Given the description of an element on the screen output the (x, y) to click on. 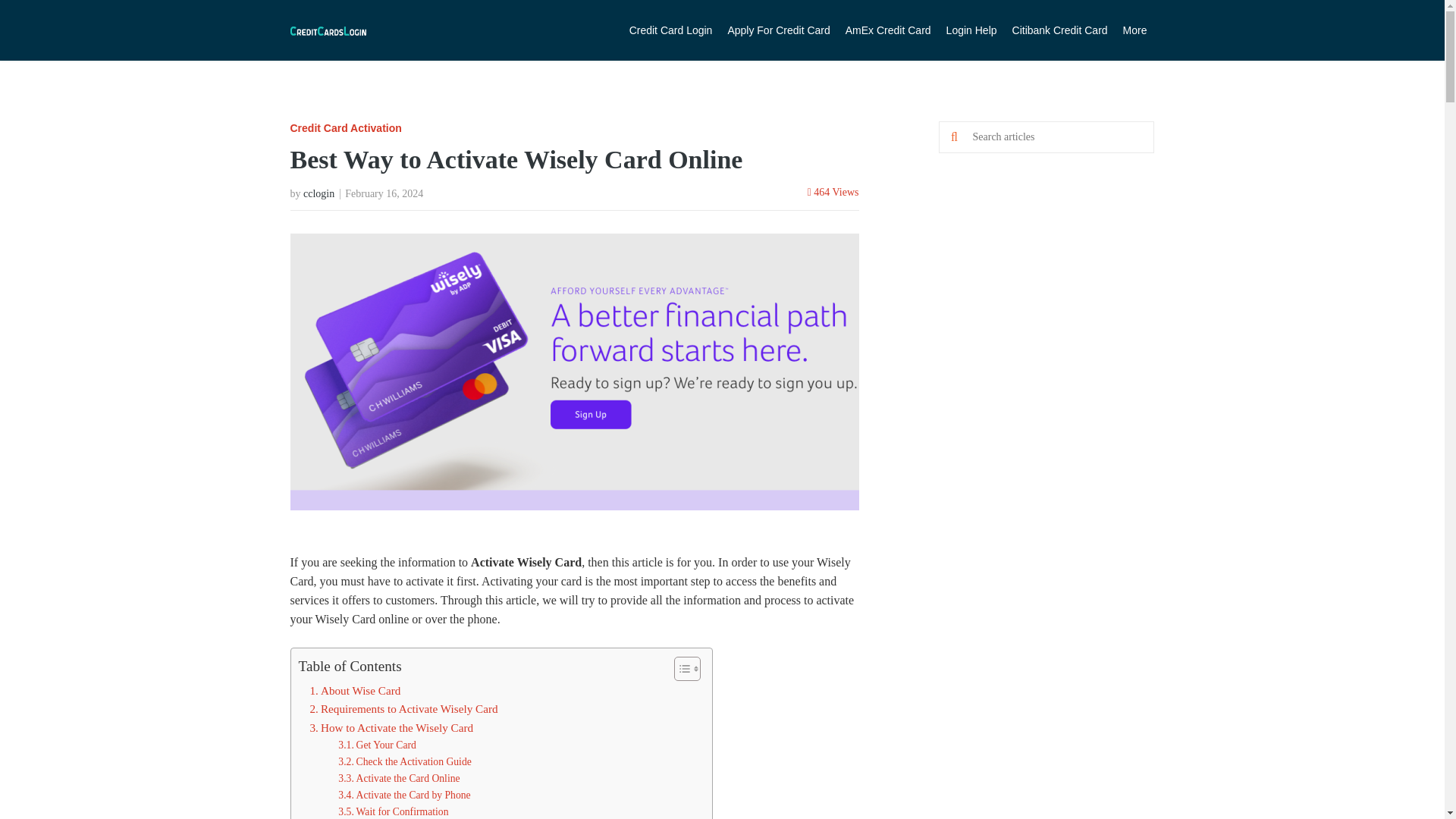
Credit Card Login (670, 30)
How to Activate the Wisely Card (390, 728)
About Wise Card (354, 690)
About Wise Card (354, 690)
Get Your Card (376, 745)
AmEx Credit Card (888, 30)
Activate the Card by Phone (403, 795)
Get Your Card (376, 745)
Check the Activation Guide (404, 761)
Requirements to Activate Wisely Card (402, 709)
